Given the description of an element on the screen output the (x, y) to click on. 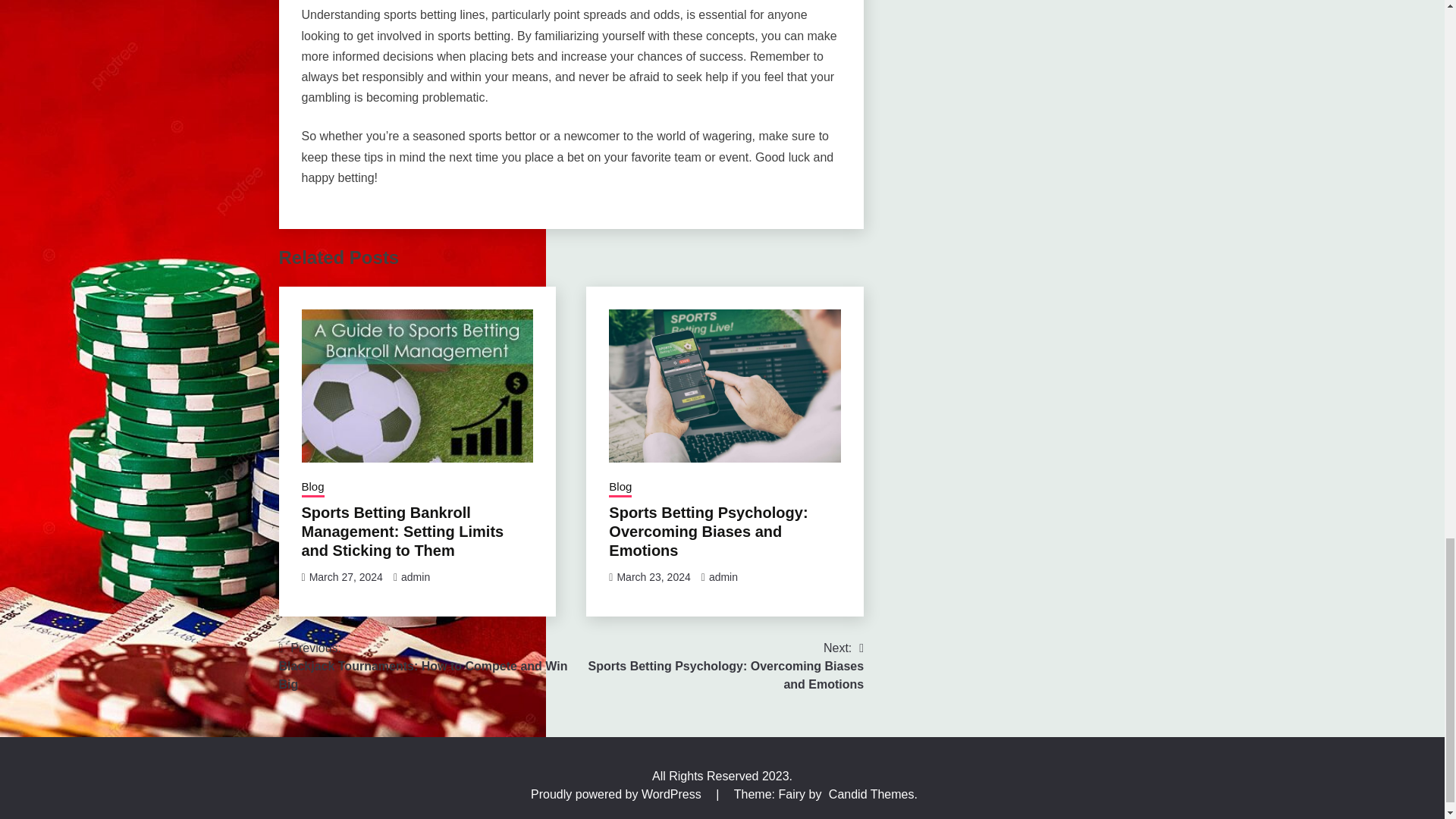
March 27, 2024 (345, 576)
admin (723, 576)
admin (415, 576)
Sports Betting Psychology: Overcoming Biases and Emotions (425, 666)
March 23, 2024 (708, 531)
Blog (652, 576)
Blog (312, 487)
